Given the description of an element on the screen output the (x, y) to click on. 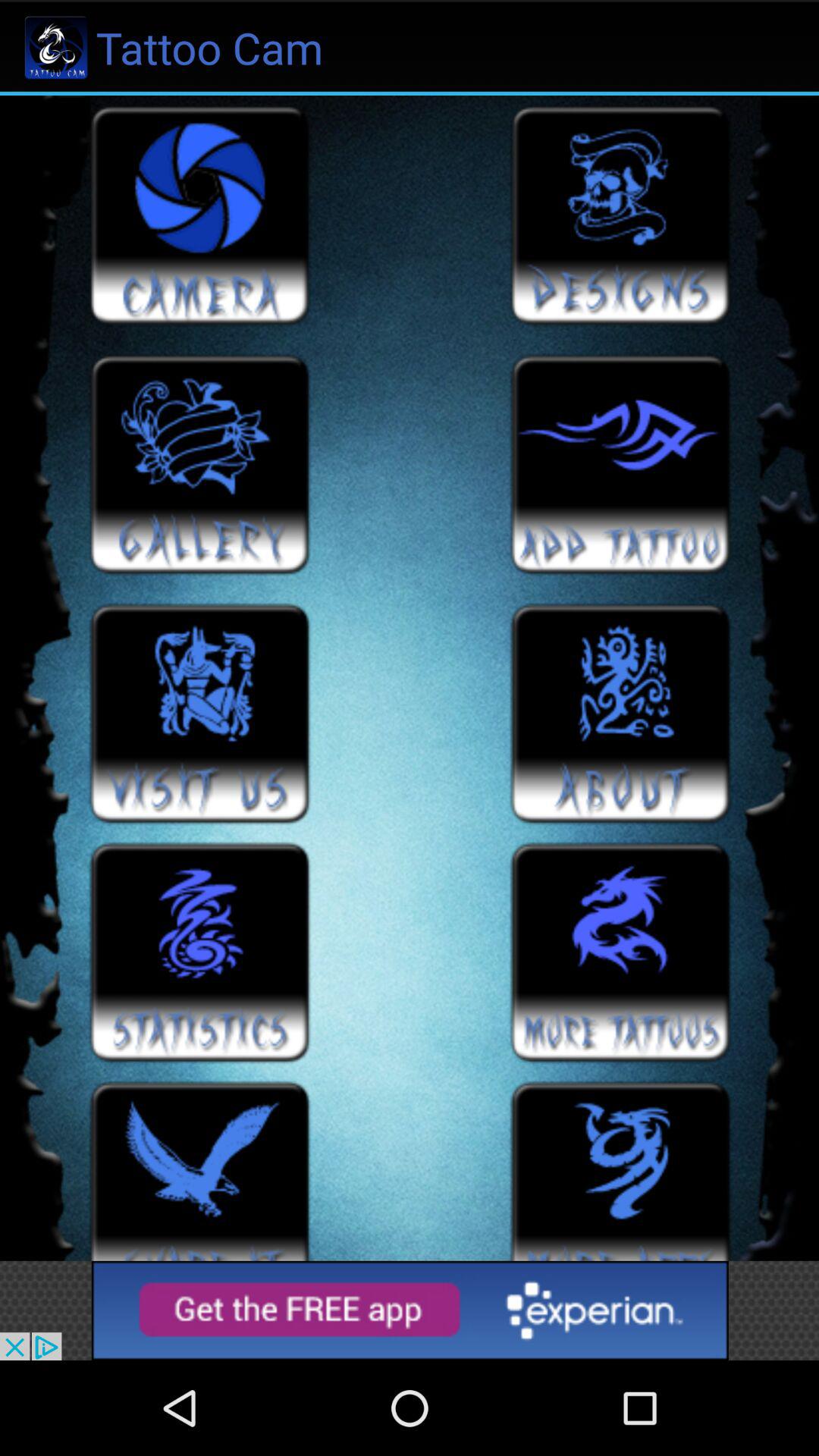
advertisement (409, 1310)
